Given the description of an element on the screen output the (x, y) to click on. 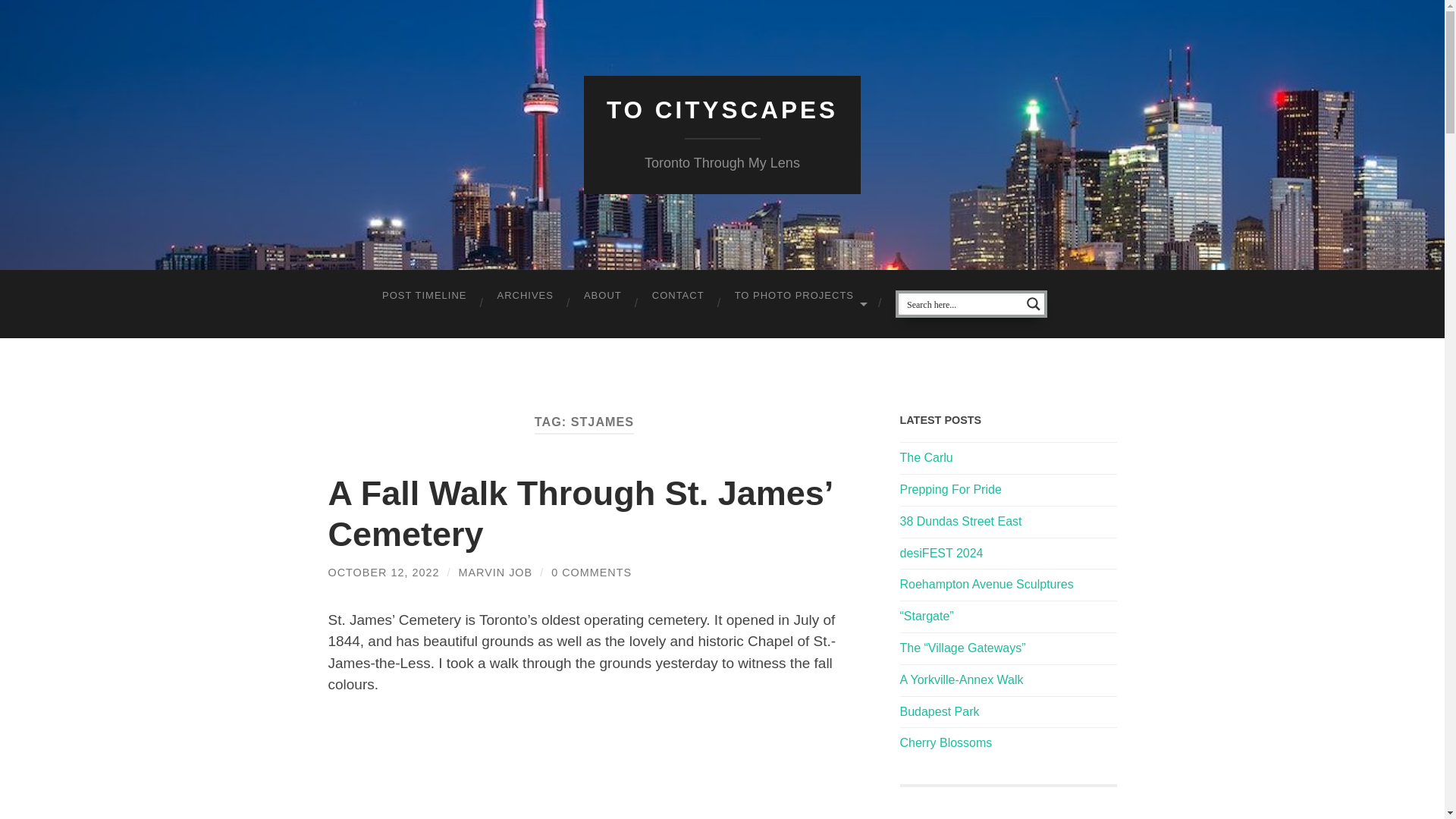
ABOUT (603, 295)
OCTOBER 12, 2022 (383, 572)
Prepping For Pride (950, 489)
TO PHOTO PROJECTS (799, 295)
CONTACT (678, 295)
ARCHIVES (524, 295)
38 Dundas Street East (960, 521)
POST TIMELINE (423, 295)
MARVIN JOB (495, 572)
The Carlu (925, 457)
TO CITYSCAPES (722, 109)
Posts by Marvin Job (495, 572)
0 COMMENTS (591, 572)
